Given the description of an element on the screen output the (x, y) to click on. 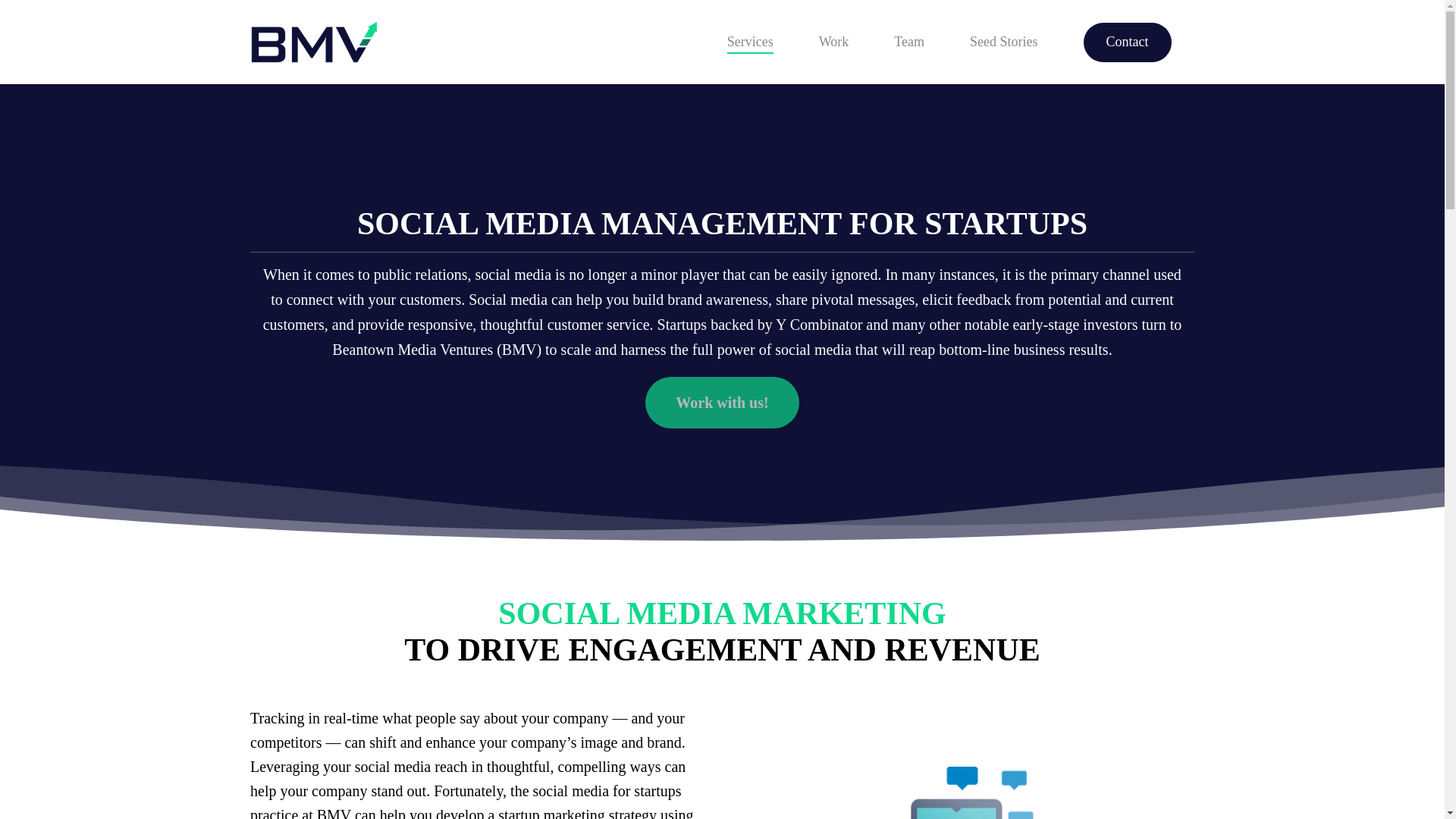
Seed Stories (1003, 41)
Work (833, 41)
Team (908, 41)
Services (749, 41)
Contact (1126, 41)
Work with us! (721, 402)
